Given the description of an element on the screen output the (x, y) to click on. 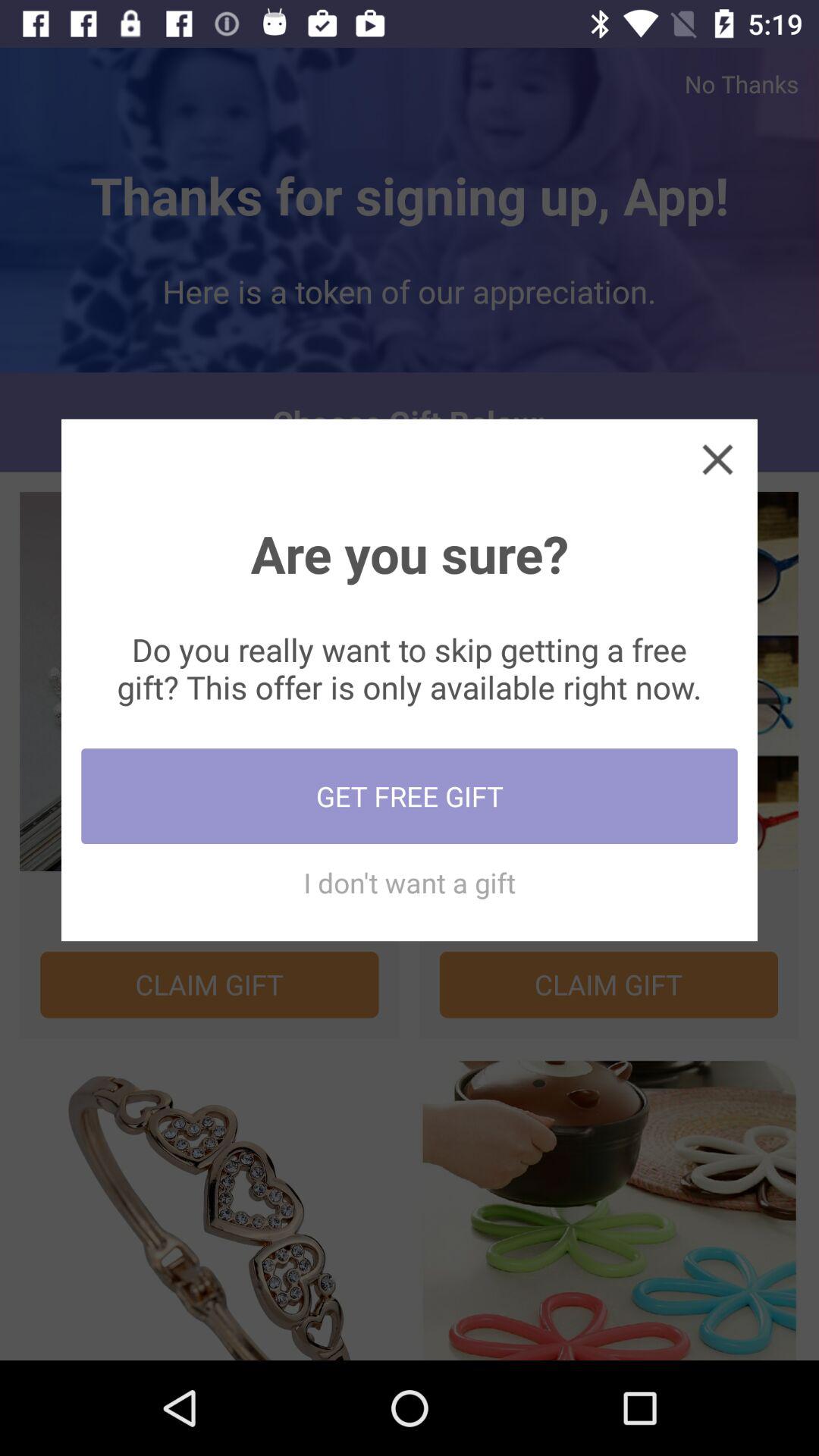
tap the icon below the get free gift (409, 882)
